Given the description of an element on the screen output the (x, y) to click on. 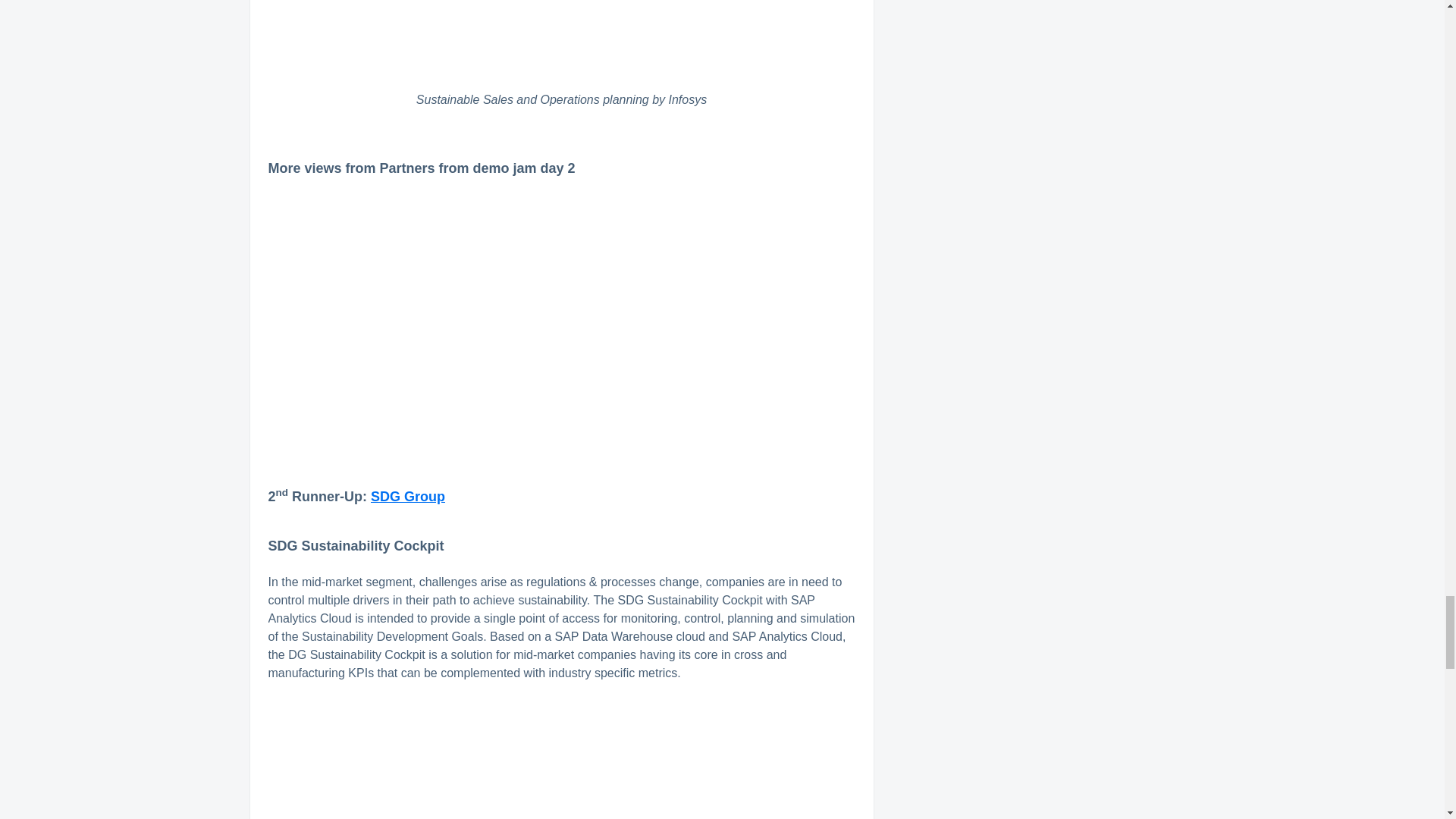
SDG Group (408, 496)
